Given the description of an element on the screen output the (x, y) to click on. 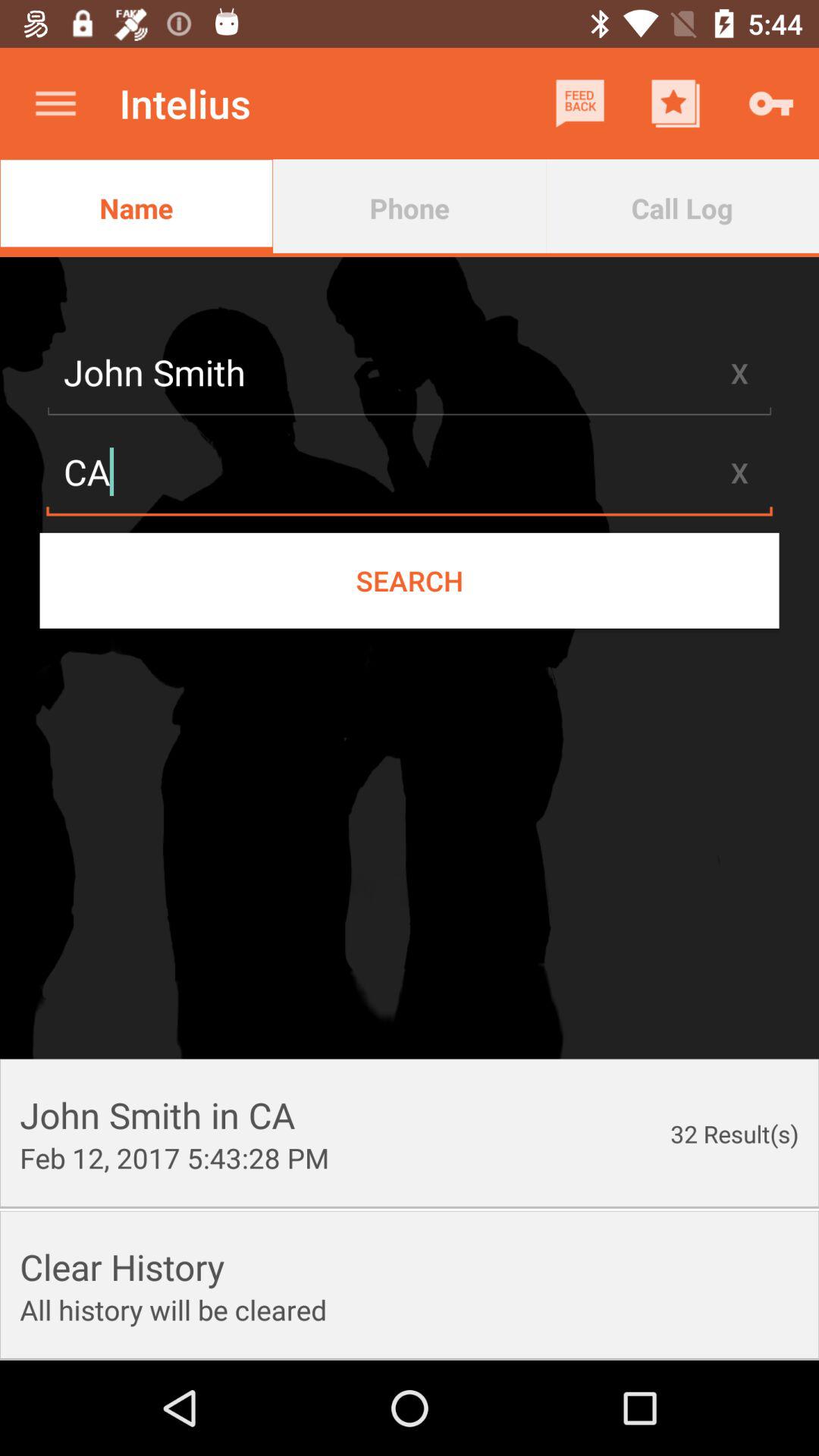
select the item below the clear history (173, 1309)
